Given the description of an element on the screen output the (x, y) to click on. 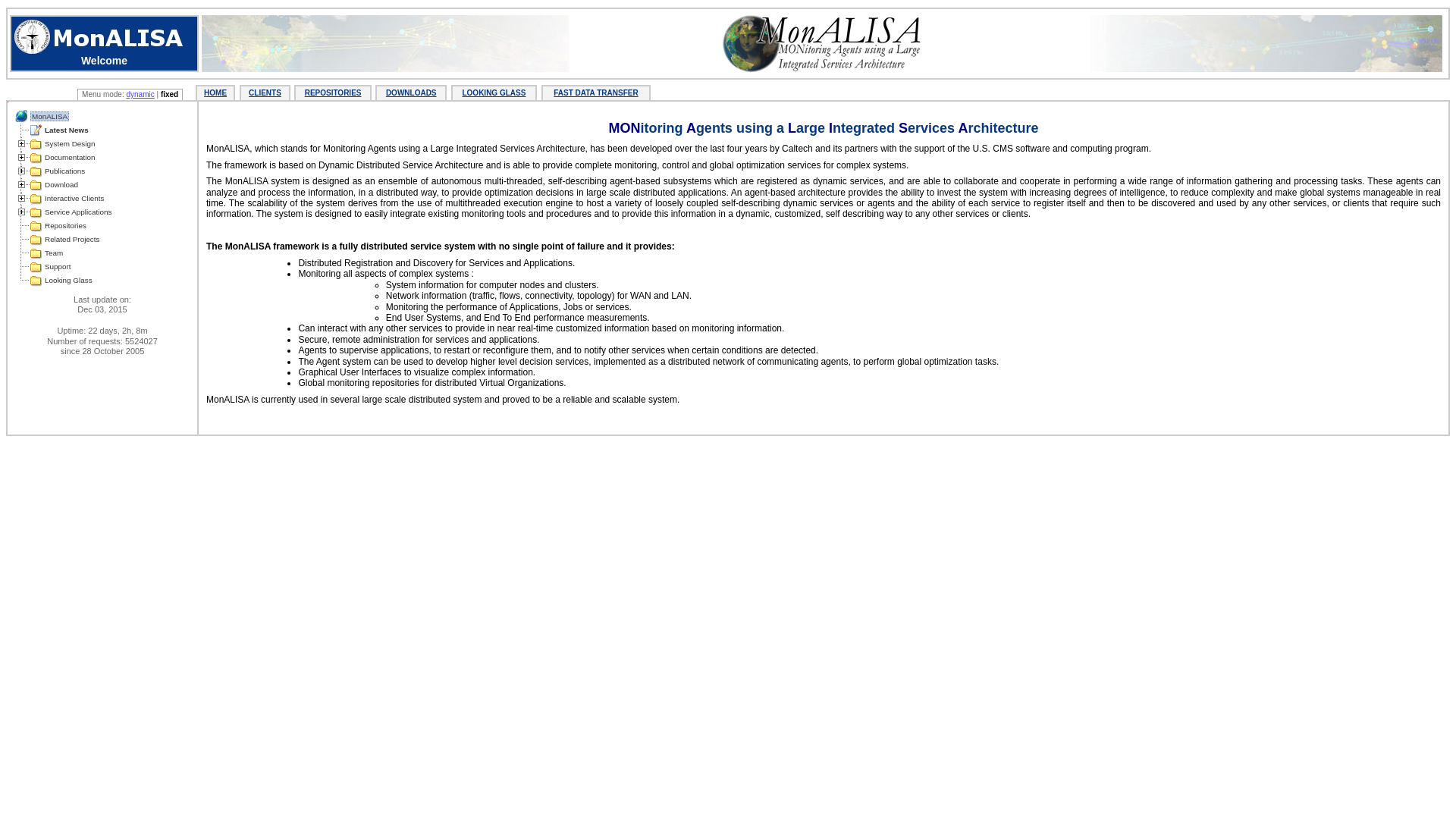
Team Element type: text (53, 252)
FAST DATA TRANSFER Element type: text (595, 92)
Looking Glass Element type: text (68, 280)
dynamic Element type: text (139, 94)
Documentation Element type: text (69, 157)
Download Element type: text (60, 184)
Support Element type: text (57, 266)
REPOSITORIES Element type: text (332, 92)
DOWNLOADS Element type: text (410, 92)
Latest News Element type: text (66, 129)
LOOKING GLASS Element type: text (493, 92)
Interactive Clients Element type: text (73, 198)
fixed Element type: text (169, 94)
Repositories Element type: text (65, 225)
CLIENTS Element type: text (264, 92)
Related Projects Element type: text (71, 239)
HOME Element type: text (214, 92)
System Design Element type: text (69, 143)
Publications Element type: text (64, 170)
Service Applications Element type: text (77, 211)
MonALISA Element type: text (49, 116)
